Given the description of an element on the screen output the (x, y) to click on. 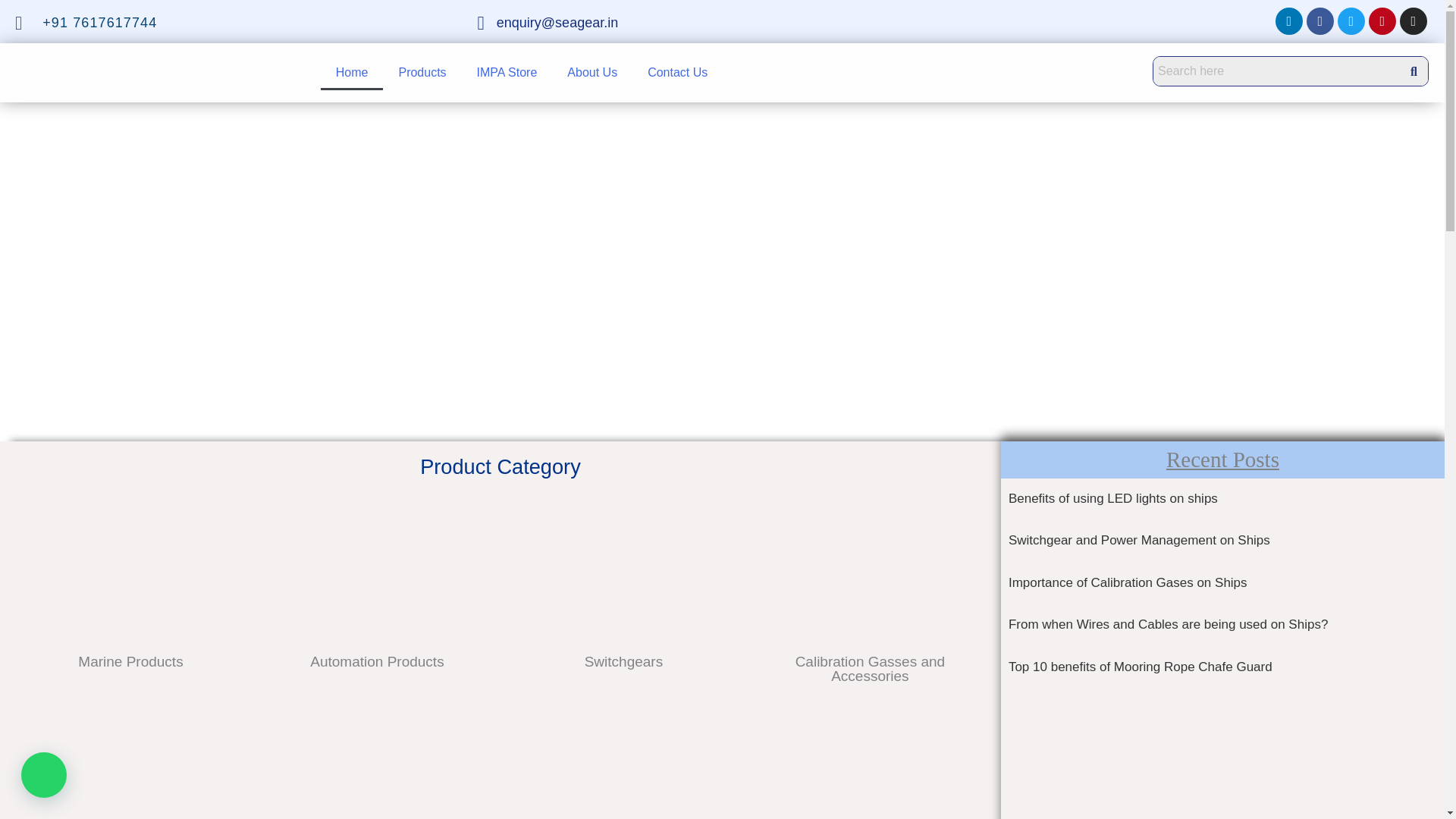
Benefits of using LED lights on ships (1113, 498)
From when Wires and Cables are being used on Ships? (1168, 624)
Search (1276, 70)
Home (352, 72)
Top 10 benefits of Mooring Rope Chafe Guard (1140, 667)
Importance of Calibration Gases on Ships (1128, 582)
Switchgear and Power Management on Ships (1139, 540)
Products (421, 72)
